Given the description of an element on the screen output the (x, y) to click on. 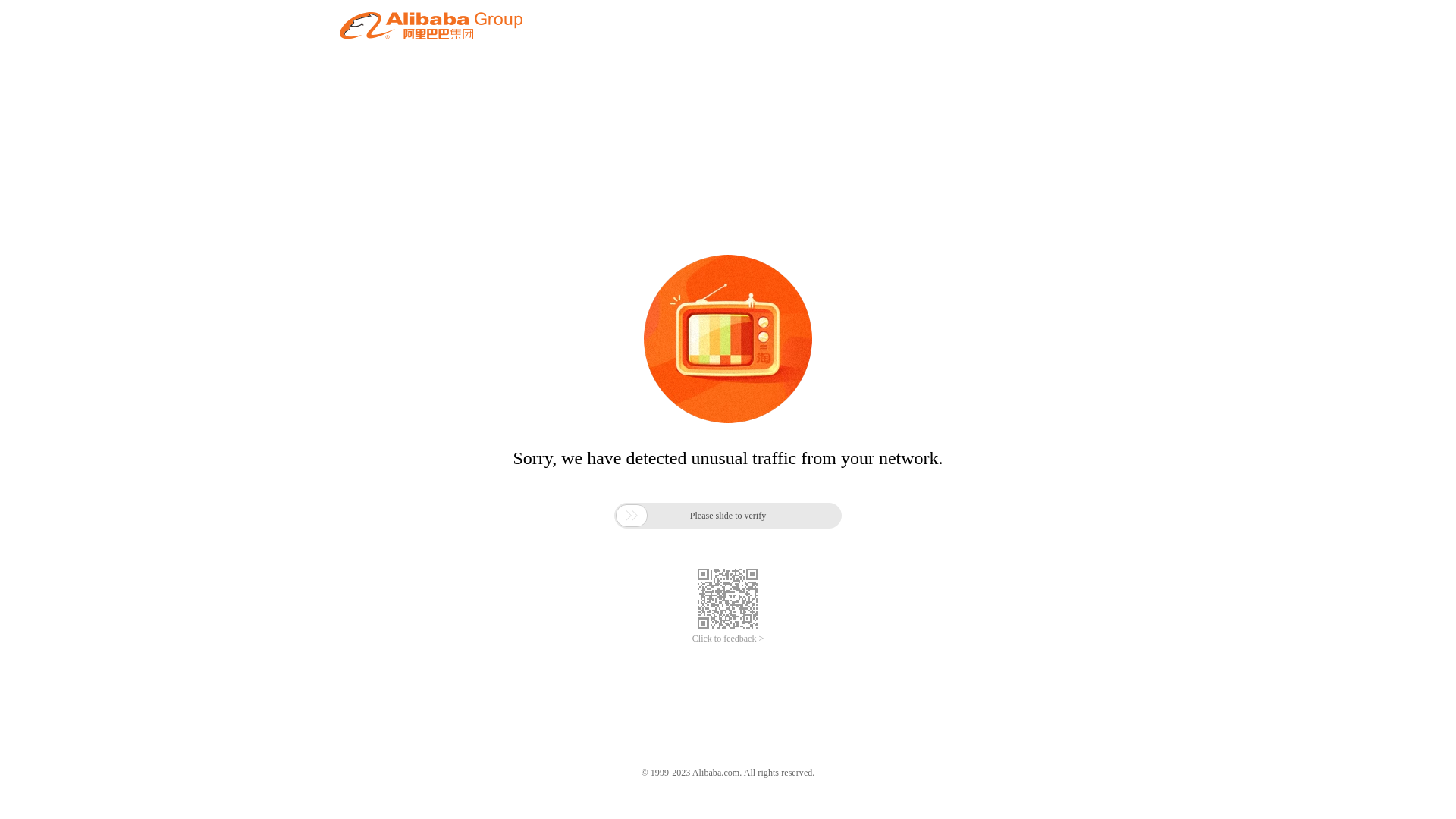
Click to feedback > Element type: text (727, 638)
